Given the description of an element on the screen output the (x, y) to click on. 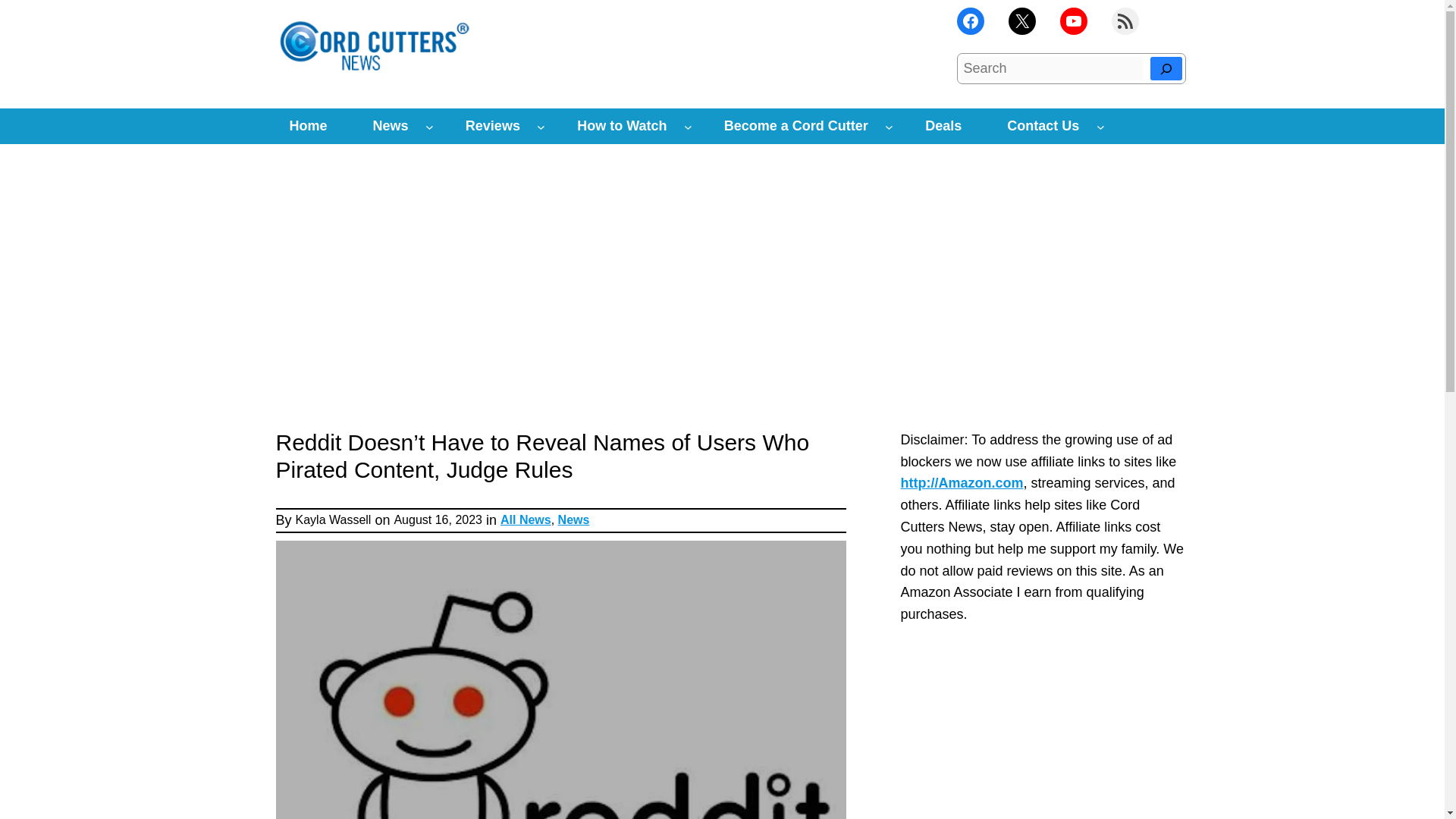
Reviews (492, 126)
Home (308, 126)
RSS Feed (1125, 21)
News (390, 126)
YouTube (1073, 21)
Facebook (970, 21)
X (1022, 21)
